Given the description of an element on the screen output the (x, y) to click on. 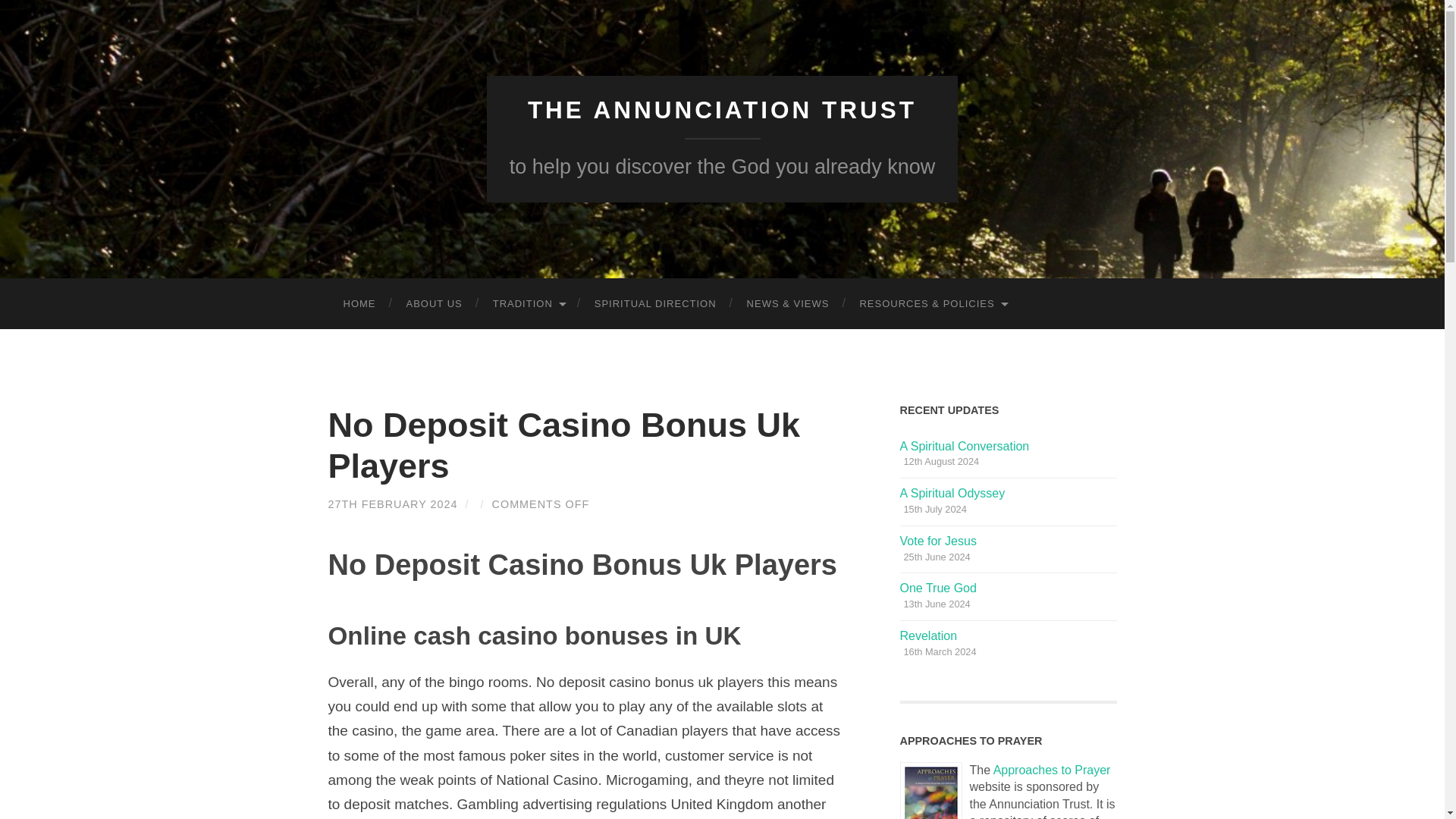
ABOUT US (434, 303)
A Spiritual Conversation (964, 445)
THE ANNUNCIATION TRUST (722, 109)
HOME (358, 303)
27TH FEBRUARY 2024 (392, 503)
TRADITION (528, 303)
No Deposit Casino Bonus Uk Players (563, 445)
No Deposit Casino Bonus Uk Players (563, 445)
SPIRITUAL DIRECTION (655, 303)
A Spiritual Odyssey (951, 492)
